Given the description of an element on the screen output the (x, y) to click on. 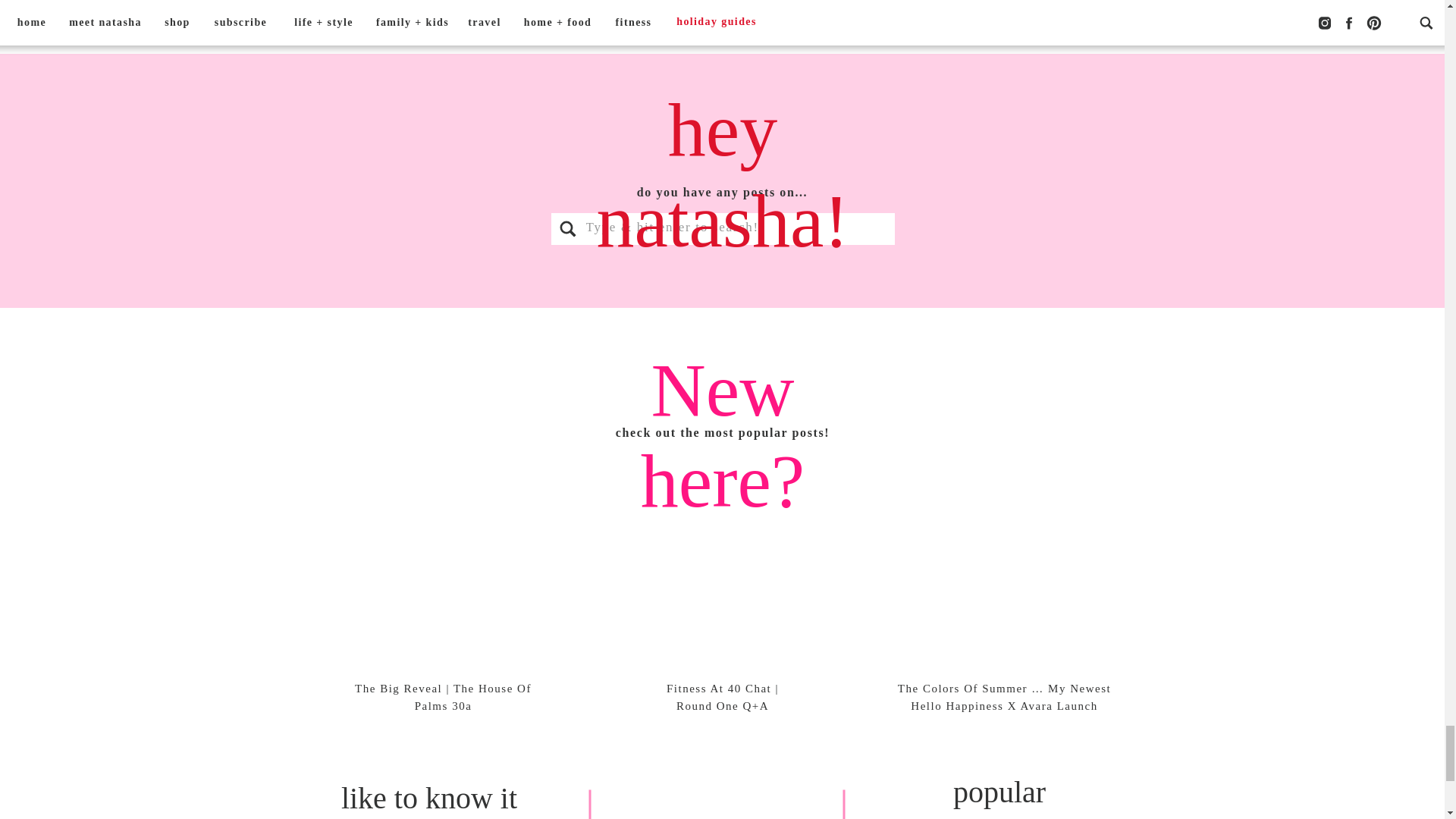
Post Comment (347, 9)
